Given the description of an element on the screen output the (x, y) to click on. 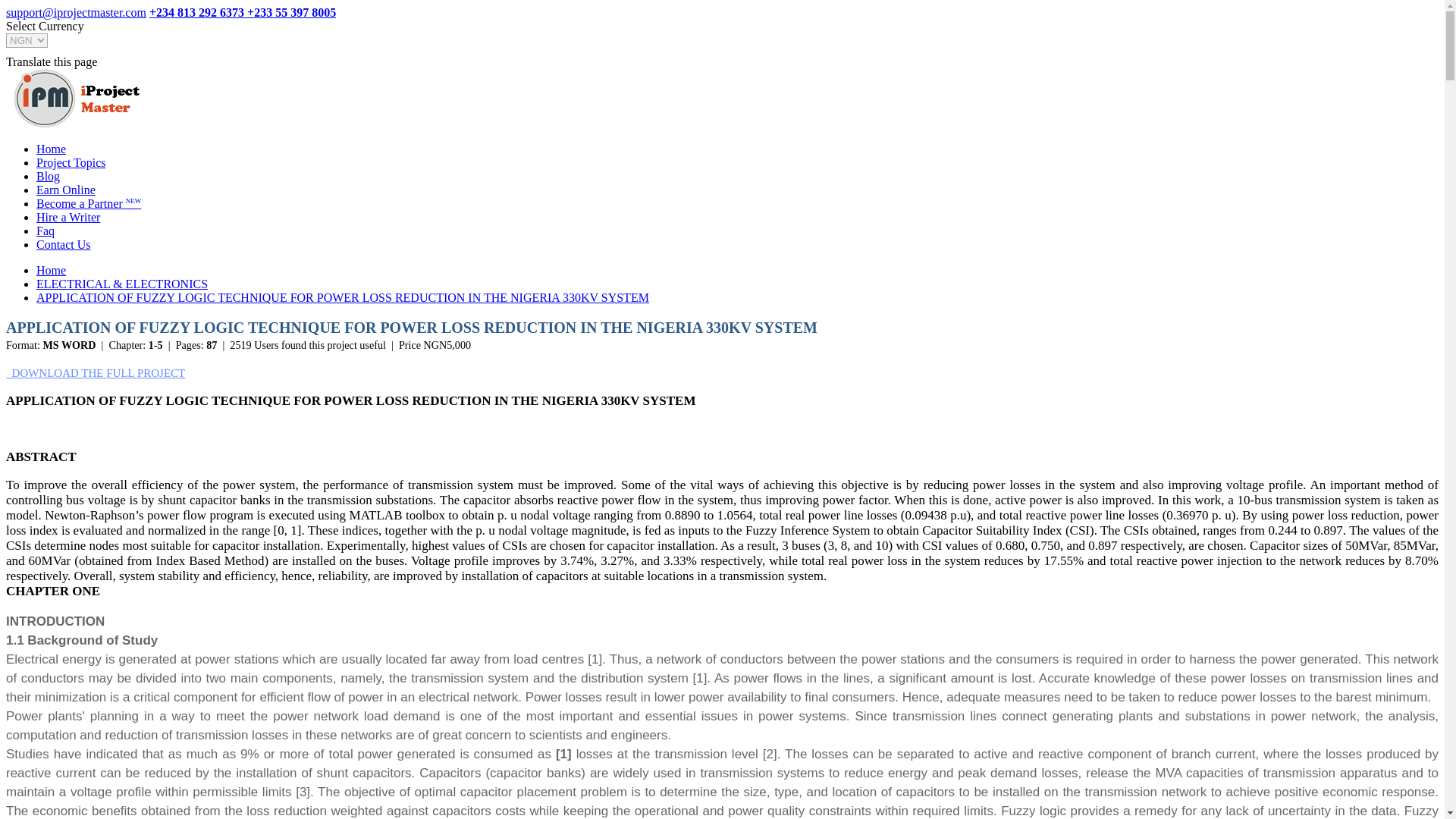
Become a Partner NEW (88, 203)
Faq (45, 230)
Project Topics (70, 162)
Hire a Writer (68, 216)
Home (50, 148)
Contact Us (63, 244)
Earn Online (66, 189)
  DOWNLOAD THE FULL PROJECT (94, 372)
Home (50, 269)
